Given the description of an element on the screen output the (x, y) to click on. 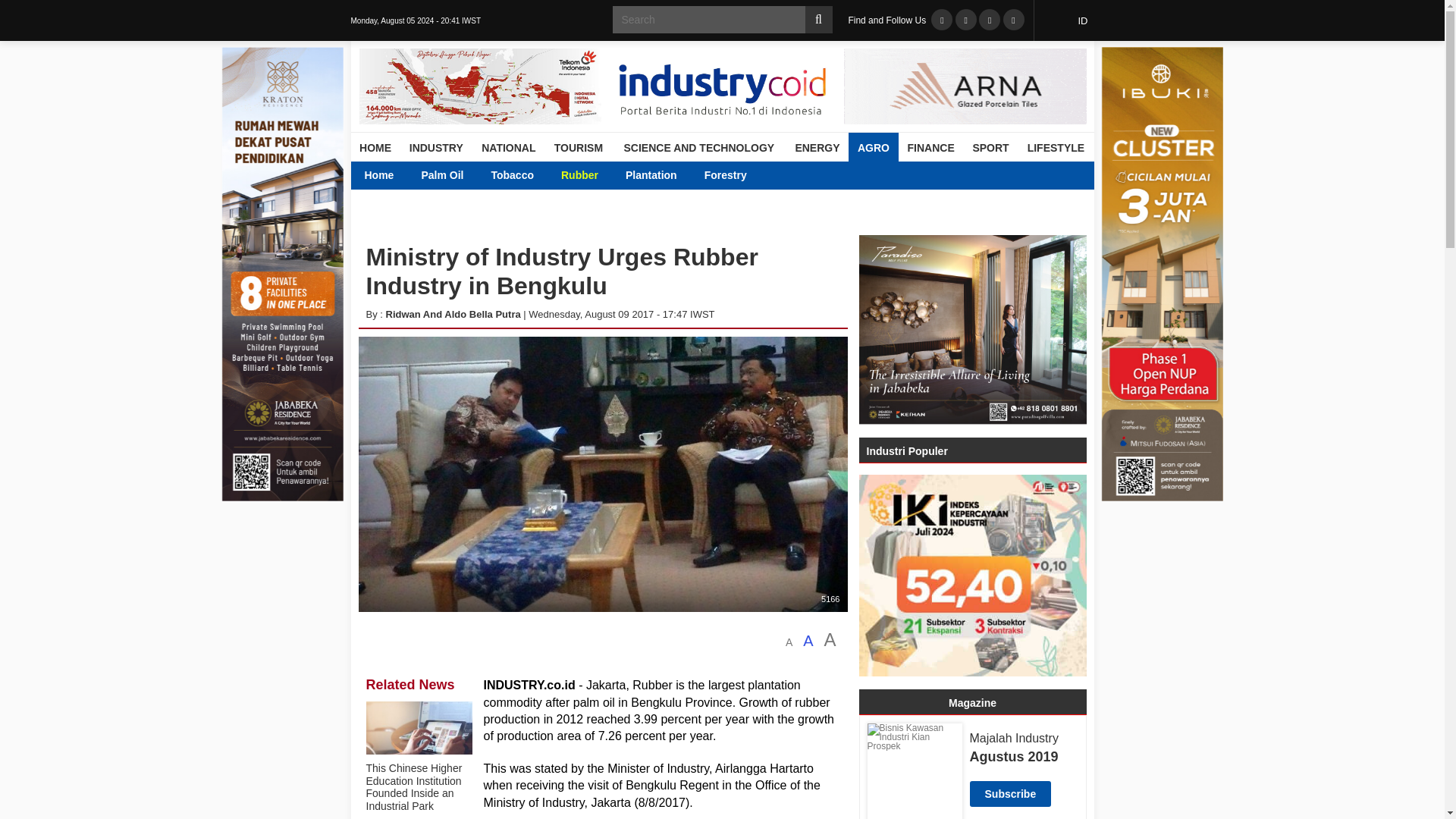
INDUSTRY (435, 147)
Textiles (597, 175)
NATIONAL (507, 147)
MICE (648, 175)
SCIENCE AND TECHNOLOGY (698, 147)
Hotel (524, 175)
Home (378, 175)
Event (612, 175)
